Given the description of an element on the screen output the (x, y) to click on. 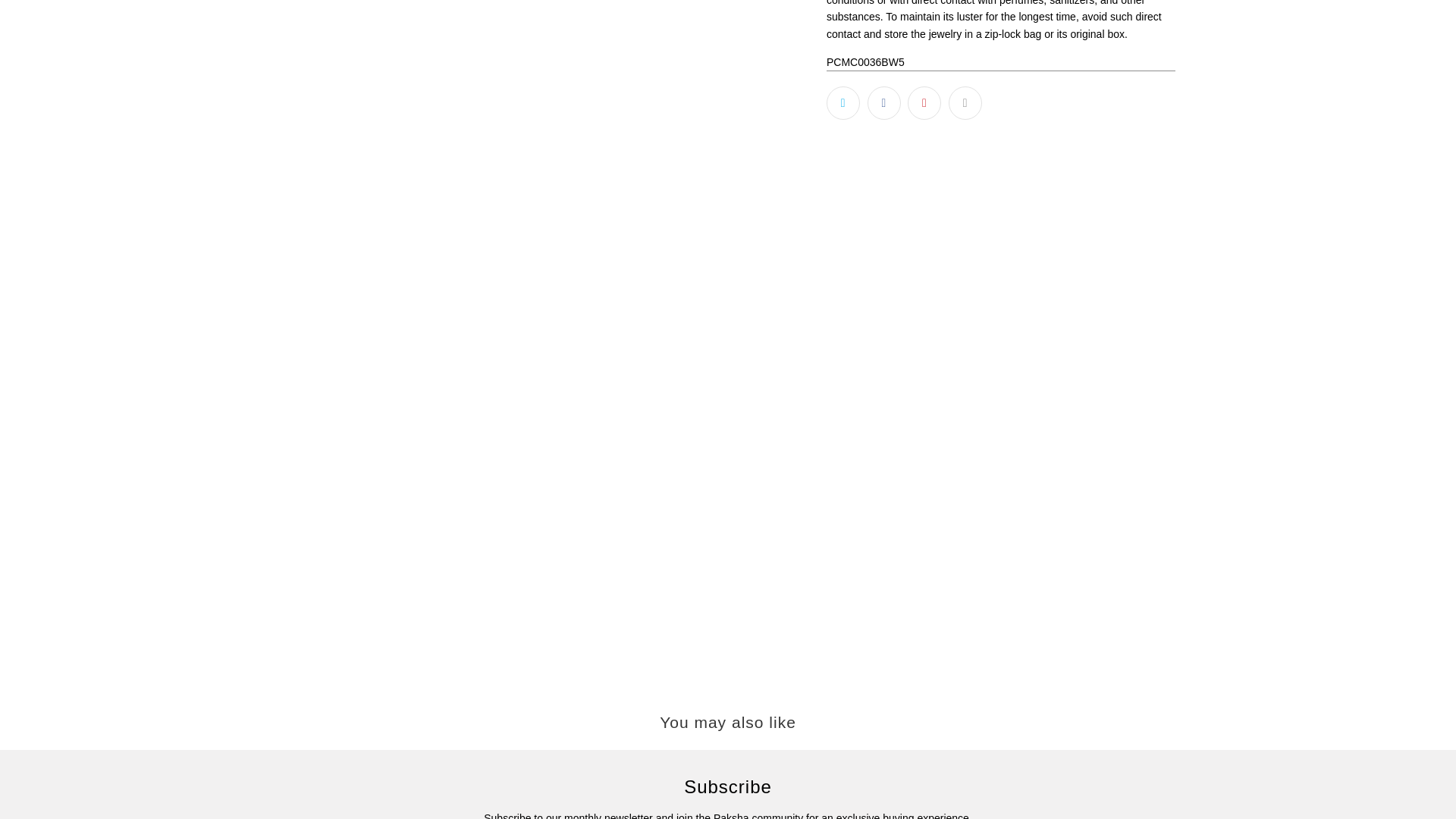
Share this on Facebook (884, 102)
Share this on Pinterest (923, 102)
Share this on Twitter (843, 102)
Email this to a friend (965, 102)
